Given the description of an element on the screen output the (x, y) to click on. 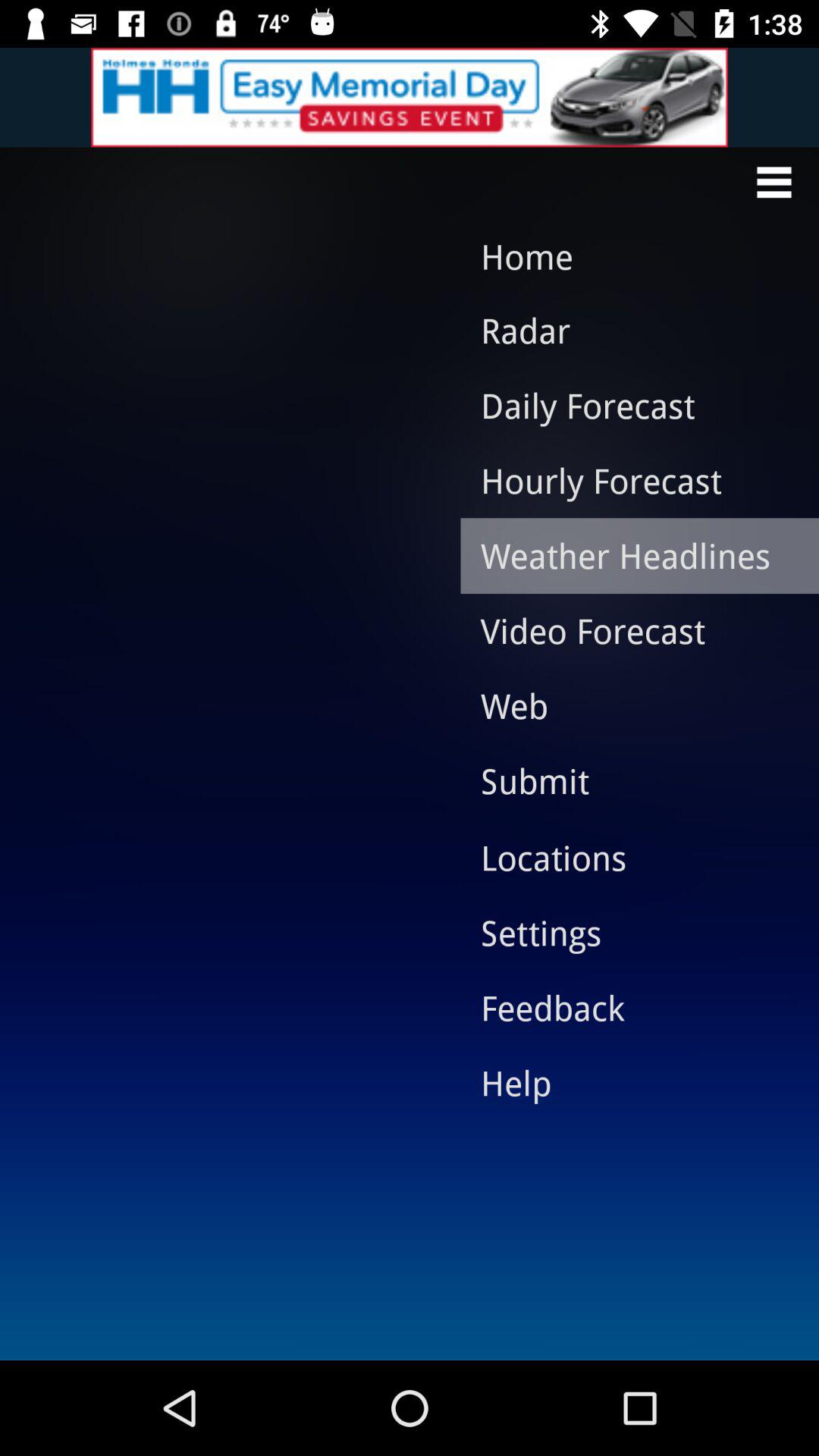
jump to help item (627, 1082)
